Given the description of an element on the screen output the (x, y) to click on. 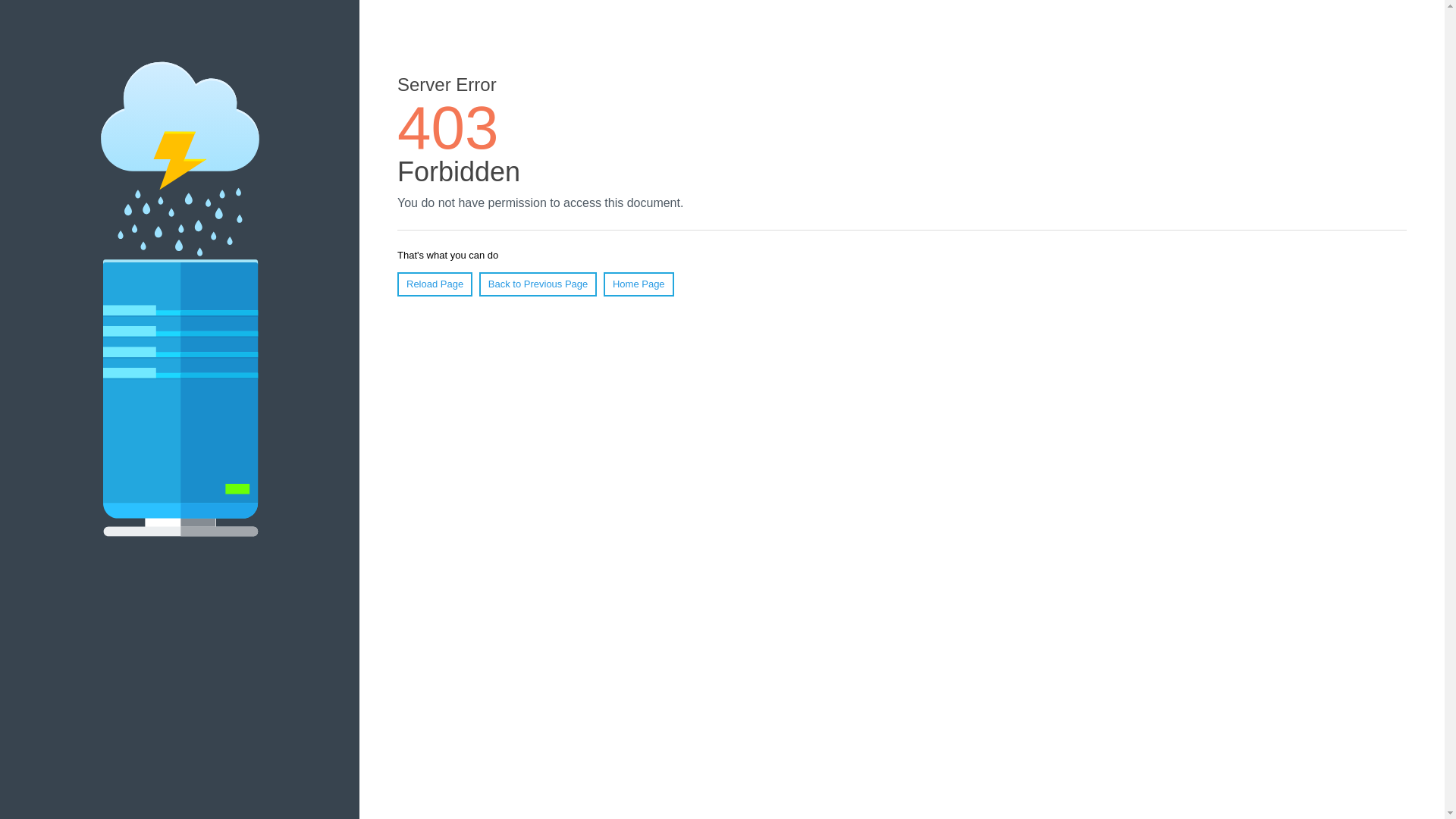
Home Page (639, 283)
Back to Previous Page (537, 283)
Reload Page (434, 283)
